Given the description of an element on the screen output the (x, y) to click on. 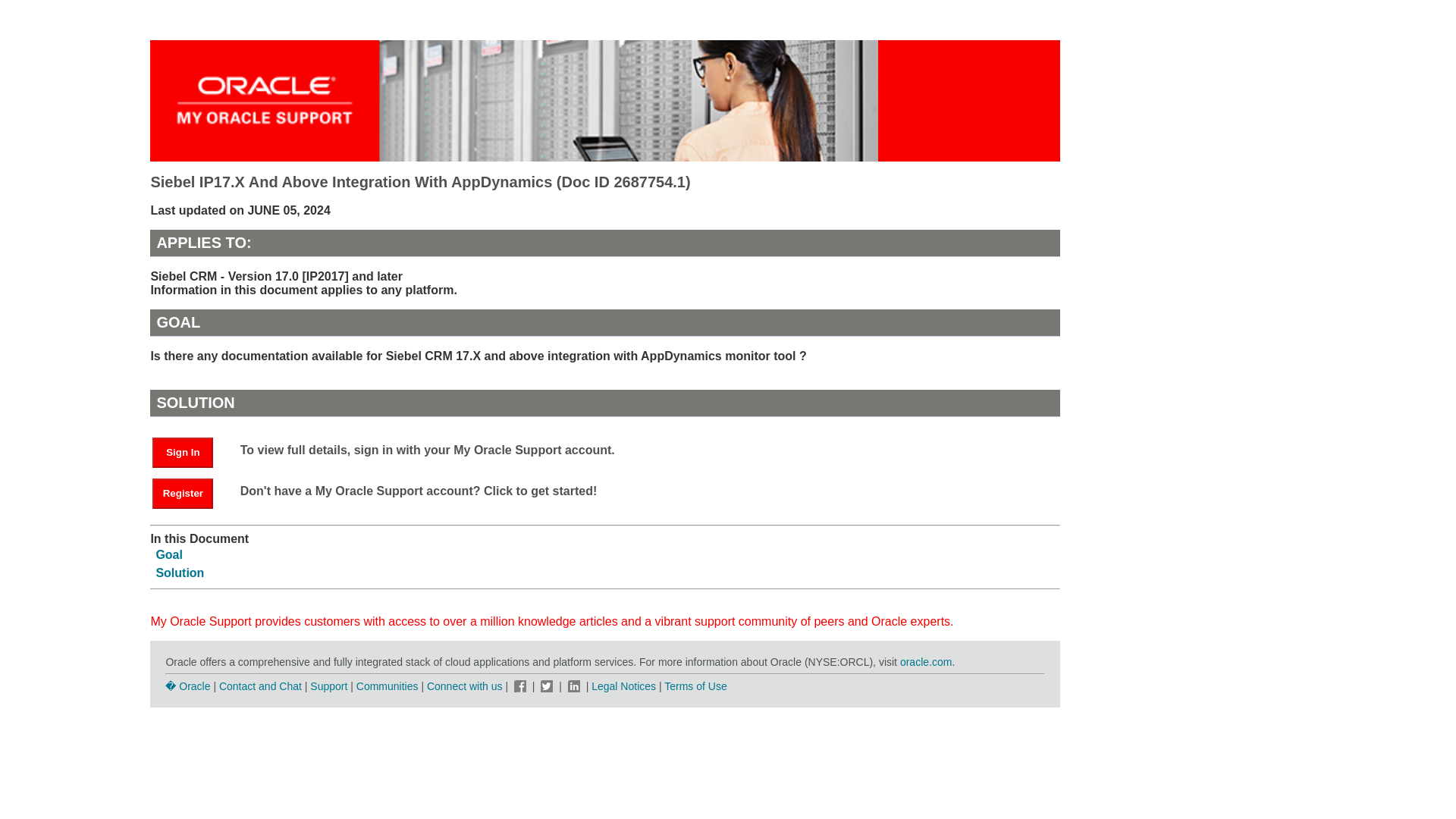
oracle.com (925, 662)
Communities (387, 686)
Goal (169, 554)
Connect with us (465, 686)
Register (190, 492)
oracle.com (925, 662)
Sign In (182, 452)
Register (182, 493)
Sign In (190, 451)
Contact and Chat (260, 686)
